Given the description of an element on the screen output the (x, y) to click on. 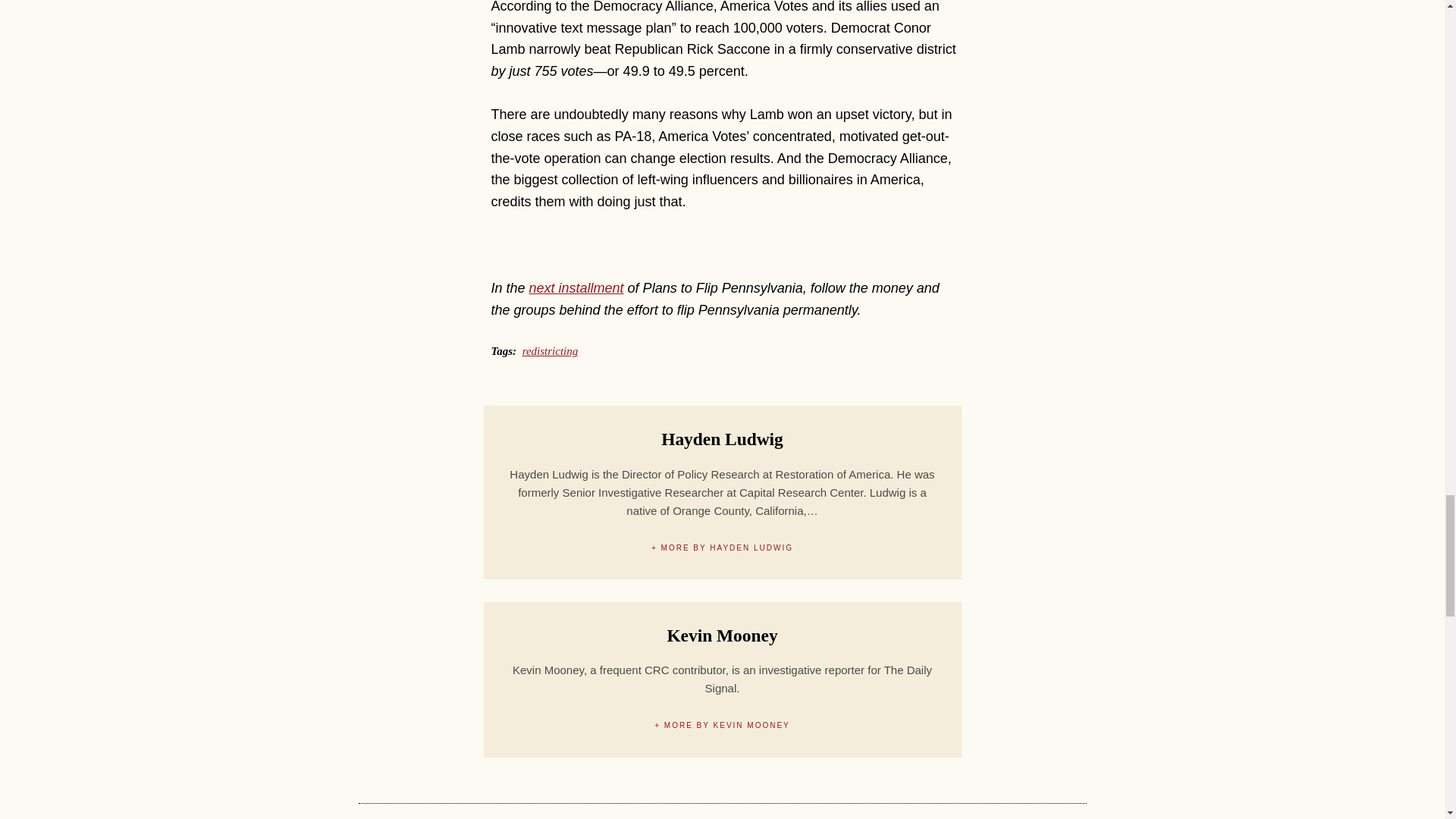
next installment (576, 287)
redistricting (550, 350)
